Given the description of an element on the screen output the (x, y) to click on. 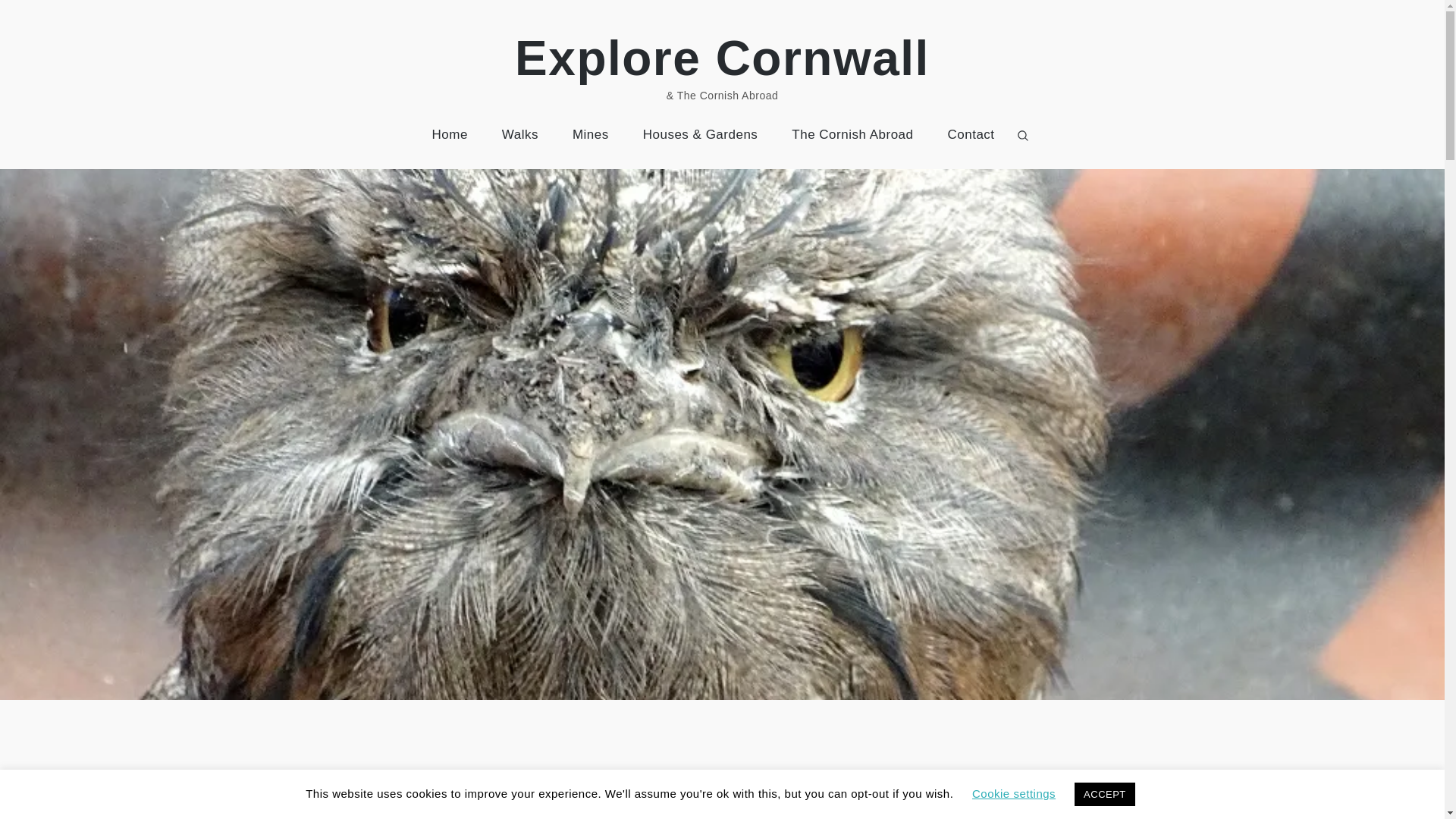
THE CORNISH ABROAD (220, 776)
The Cornish Abroad (852, 134)
ACCEPT (1104, 793)
Walks (519, 134)
Contact (970, 134)
Mines (590, 134)
Explore Cornwall (722, 58)
Cookie settings (1013, 793)
Home (448, 134)
